Given the description of an element on the screen output the (x, y) to click on. 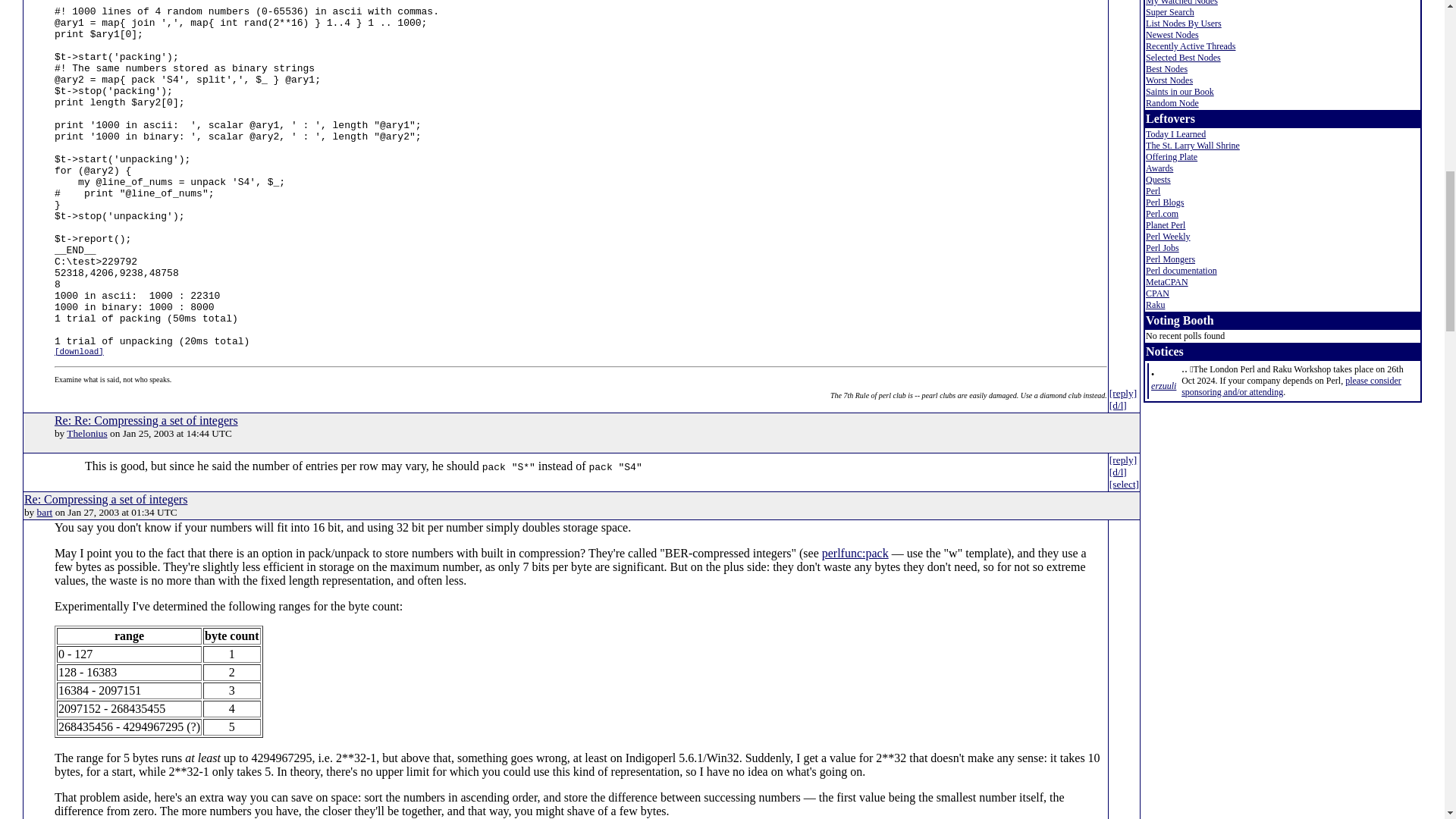
Thelonius (86, 432)
2024-05-30 14:23:36 (1163, 385)
Re: Re: Compressing a set of integers (146, 420)
